Given the description of an element on the screen output the (x, y) to click on. 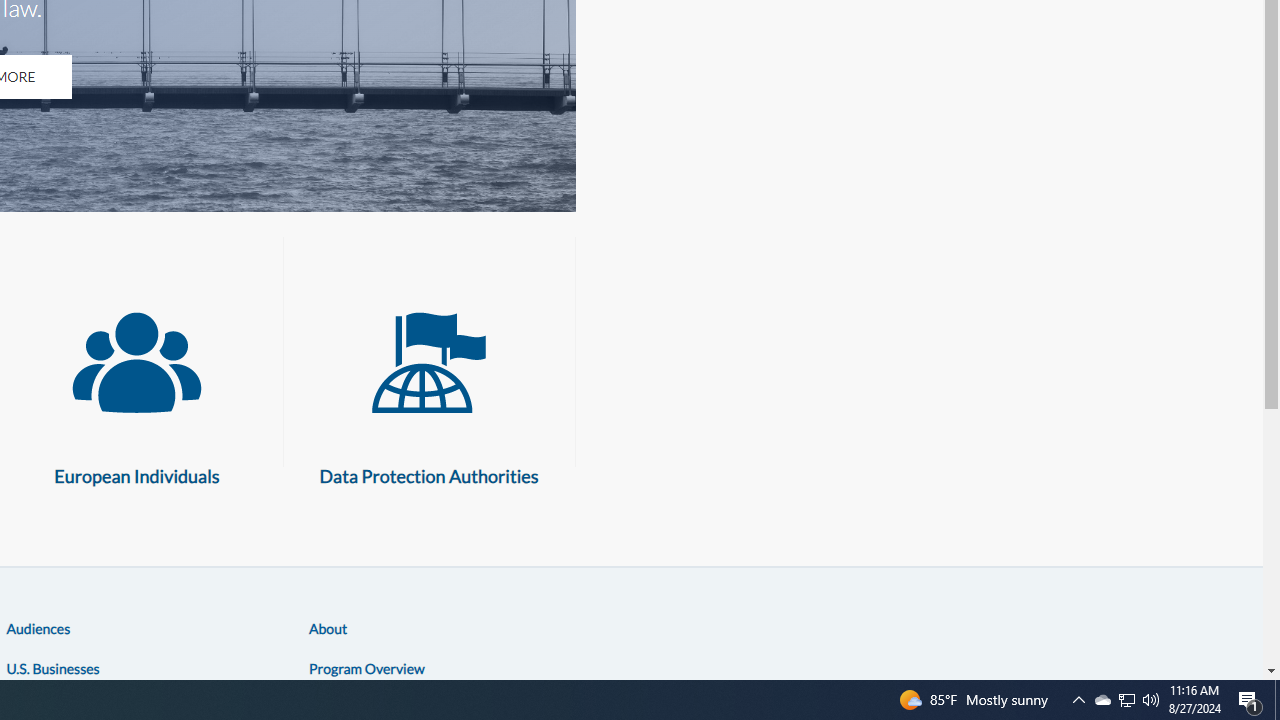
U.S. Businesses (52, 667)
European Individuals European Individuals (136, 389)
Audiences (38, 628)
Program Overview (366, 667)
European Individuals (136, 363)
Data Protection Authorities Data Protection Authorities (429, 389)
About (328, 628)
Data Protection Authorities (429, 363)
